Given the description of an element on the screen output the (x, y) to click on. 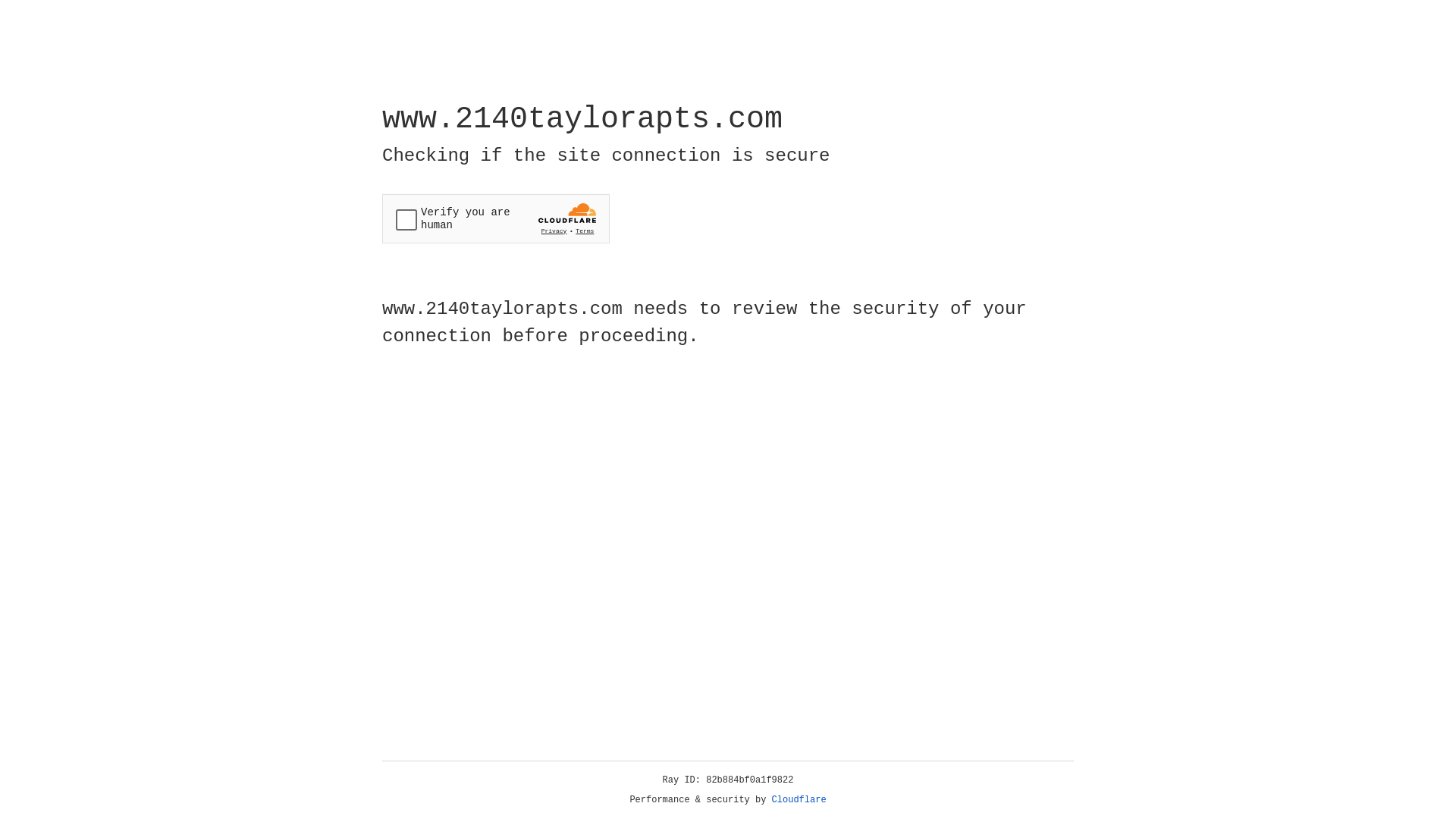
Widget containing a Cloudflare security challenge Element type: hover (495, 218)
Cloudflare Element type: text (798, 799)
